Given the description of an element on the screen output the (x, y) to click on. 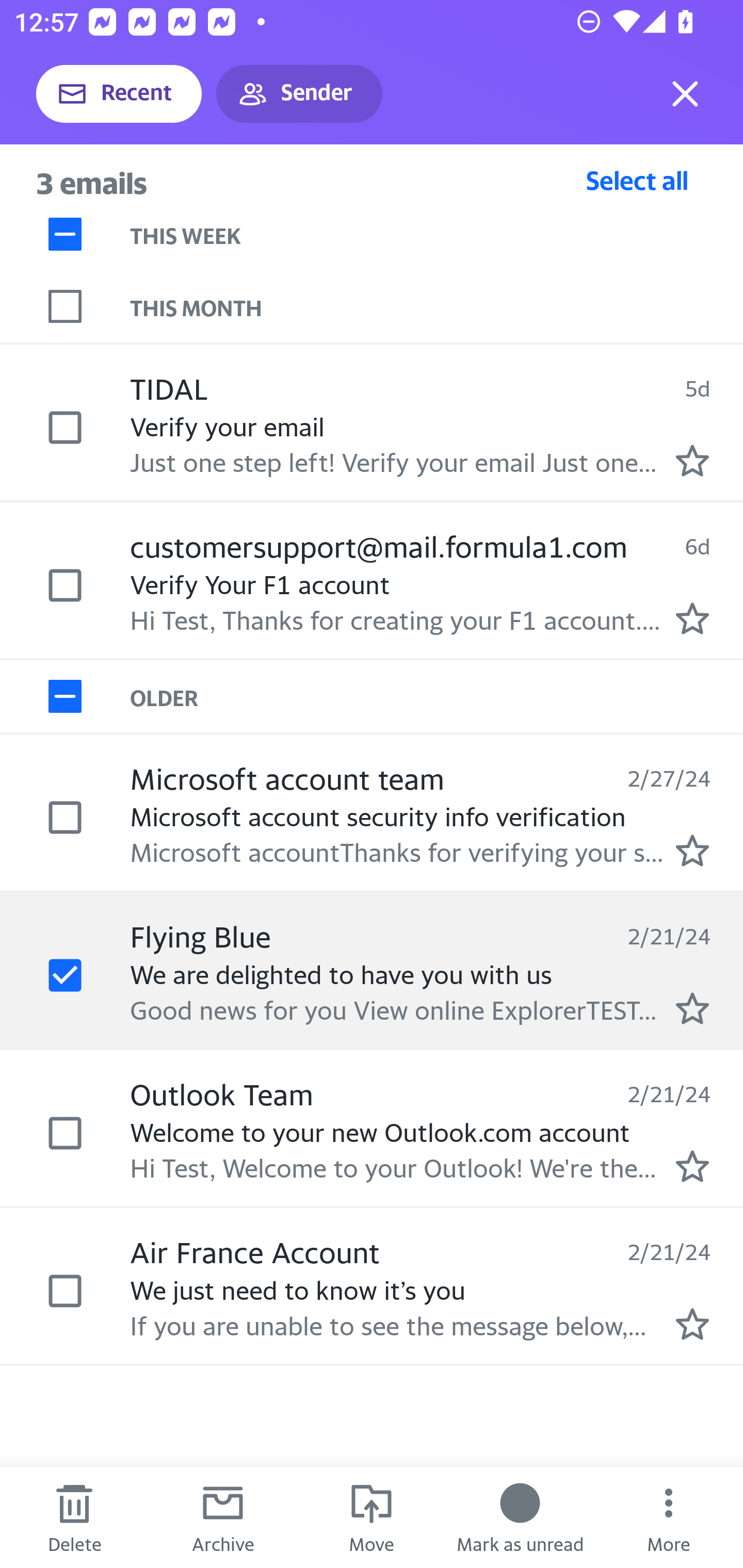
Sender (299, 93)
Exit selection mode (684, 93)
Select all (637, 180)
THIS MONTH (436, 306)
Mark as starred. (692, 460)
Mark as starred. (692, 618)
OLDER (436, 696)
Mark as starred. (692, 850)
Mark as starred. (692, 1008)
Mark as starred. (692, 1165)
Mark as starred. (692, 1324)
Delete (74, 1517)
Archive (222, 1517)
Move (371, 1517)
Mark as unread (519, 1517)
More (668, 1517)
